Given the description of an element on the screen output the (x, y) to click on. 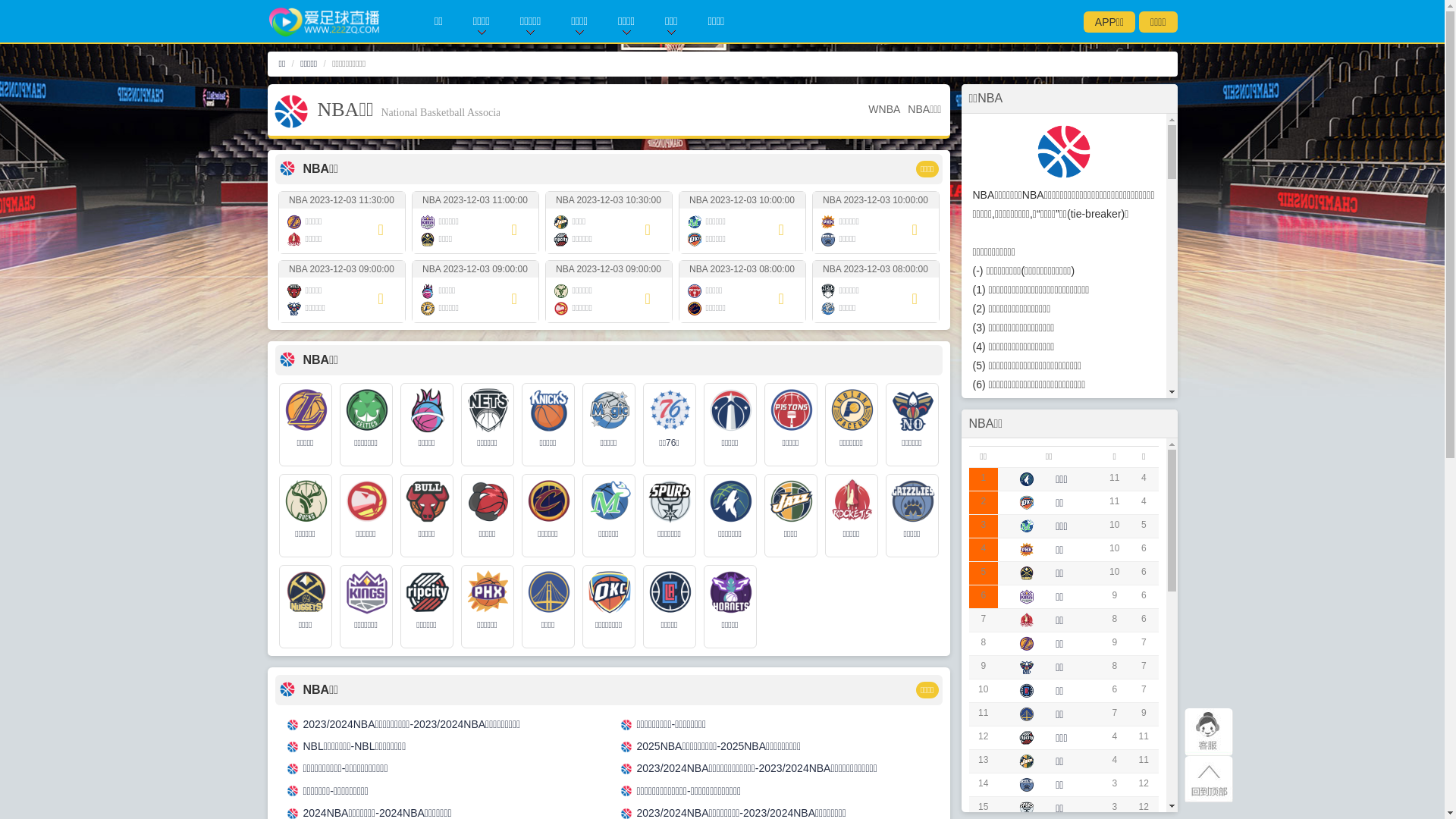
WNBA Element type: text (884, 109)
